Given the description of an element on the screen output the (x, y) to click on. 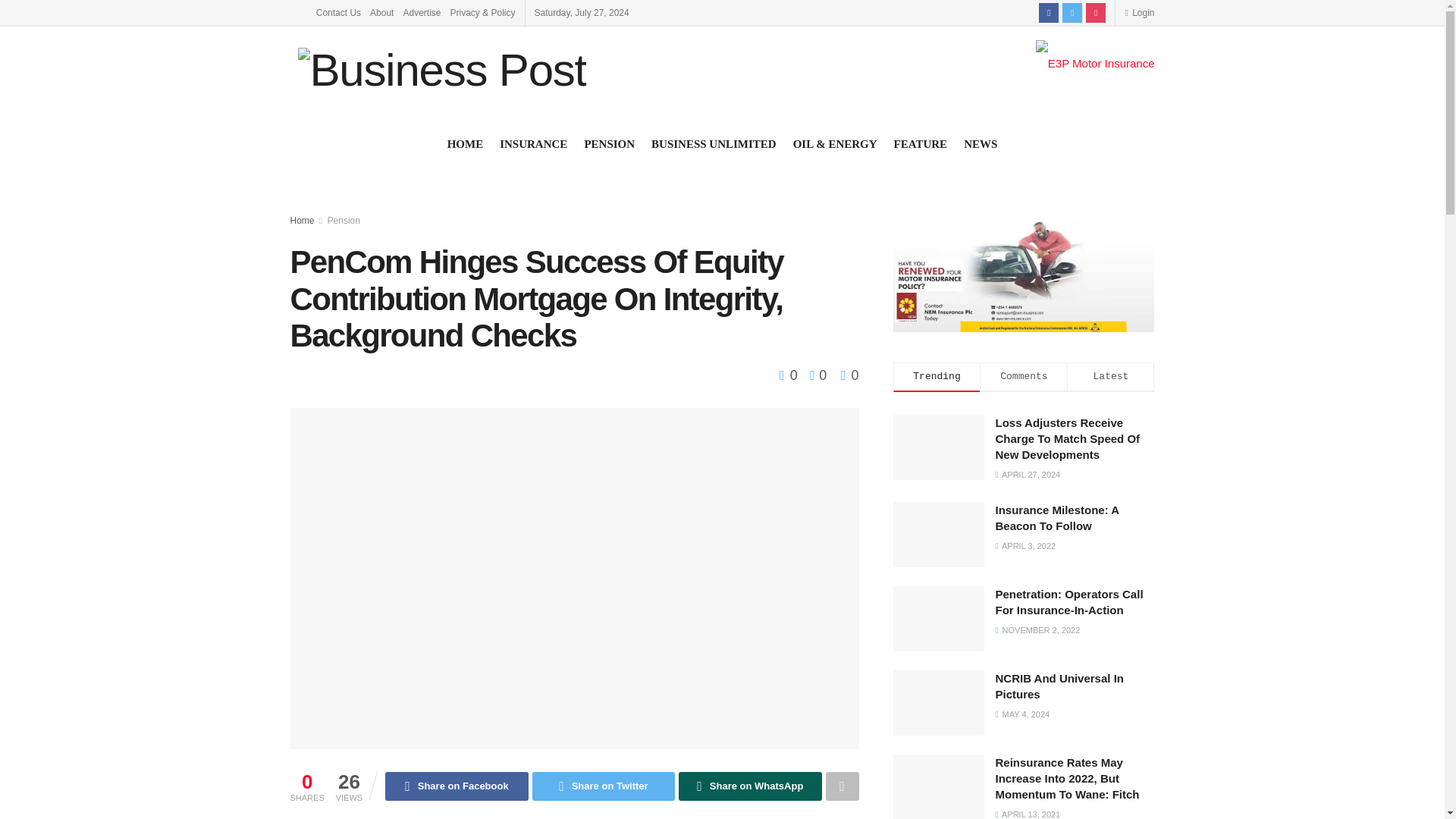
Pension (343, 220)
BUSINESS UNLIMITED (713, 144)
HOME (464, 144)
FEATURE (920, 144)
About (381, 12)
0 (790, 375)
INSURANCE (533, 144)
0 (814, 375)
Advertise (422, 12)
NEWS (980, 144)
Home (301, 220)
Login (1139, 12)
PENSION (608, 144)
Contact Us (338, 12)
0 (850, 375)
